Given the description of an element on the screen output the (x, y) to click on. 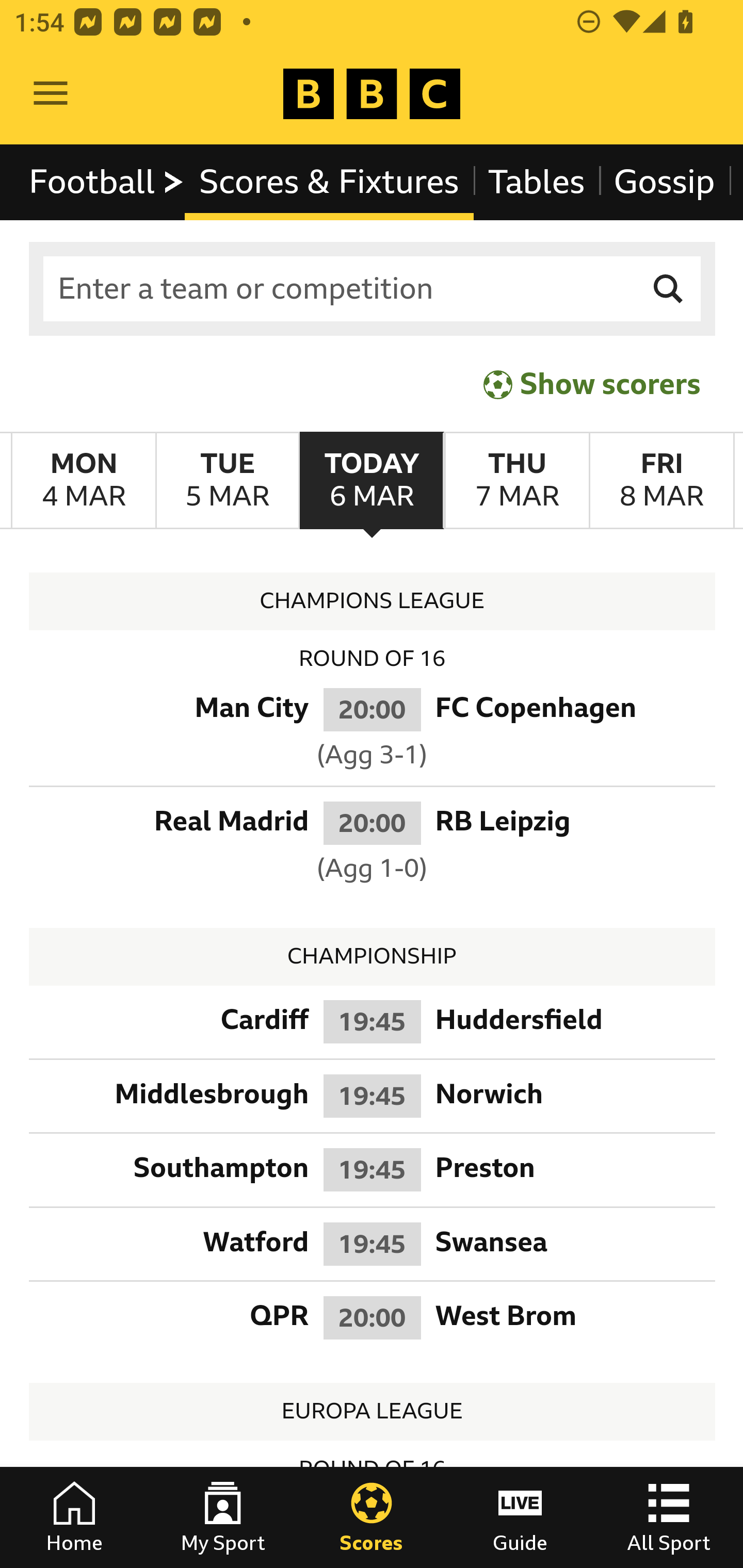
Open Menu (50, 93)
Football  (106, 181)
Scores & Fixtures (329, 181)
Tables (536, 181)
Gossip (664, 181)
Search (669, 289)
Show scorers (591, 383)
MondayMarch 4th Monday March 4th (83, 480)
TuesdayMarch 5th Tuesday March 5th (227, 480)
ThursdayMarch 7th Thursday March 7th (516, 480)
FridayMarch 8th Friday March 8th (661, 480)
Home (74, 1517)
My Sport (222, 1517)
Guide (519, 1517)
All Sport (668, 1517)
